Given the description of an element on the screen output the (x, y) to click on. 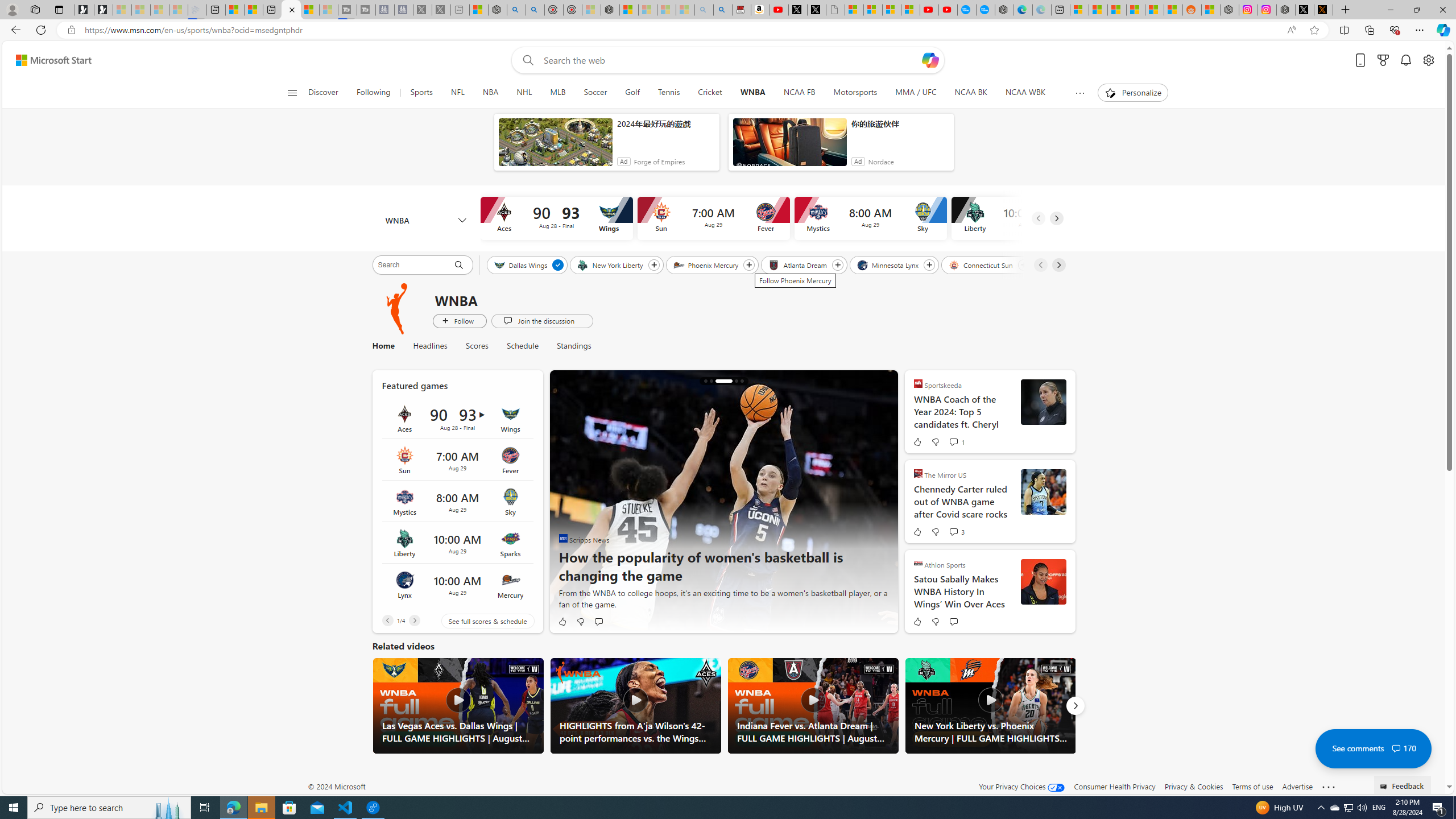
Golf (631, 92)
Previous (387, 620)
Schedule (522, 345)
Class: oneFooter_seeMore-DS-EntryPoint1-1 (1328, 786)
Your Privacy Choices (1021, 786)
Sports (421, 92)
Skip to content (49, 59)
View comments 3 Comment (953, 531)
